Given the description of an element on the screen output the (x, y) to click on. 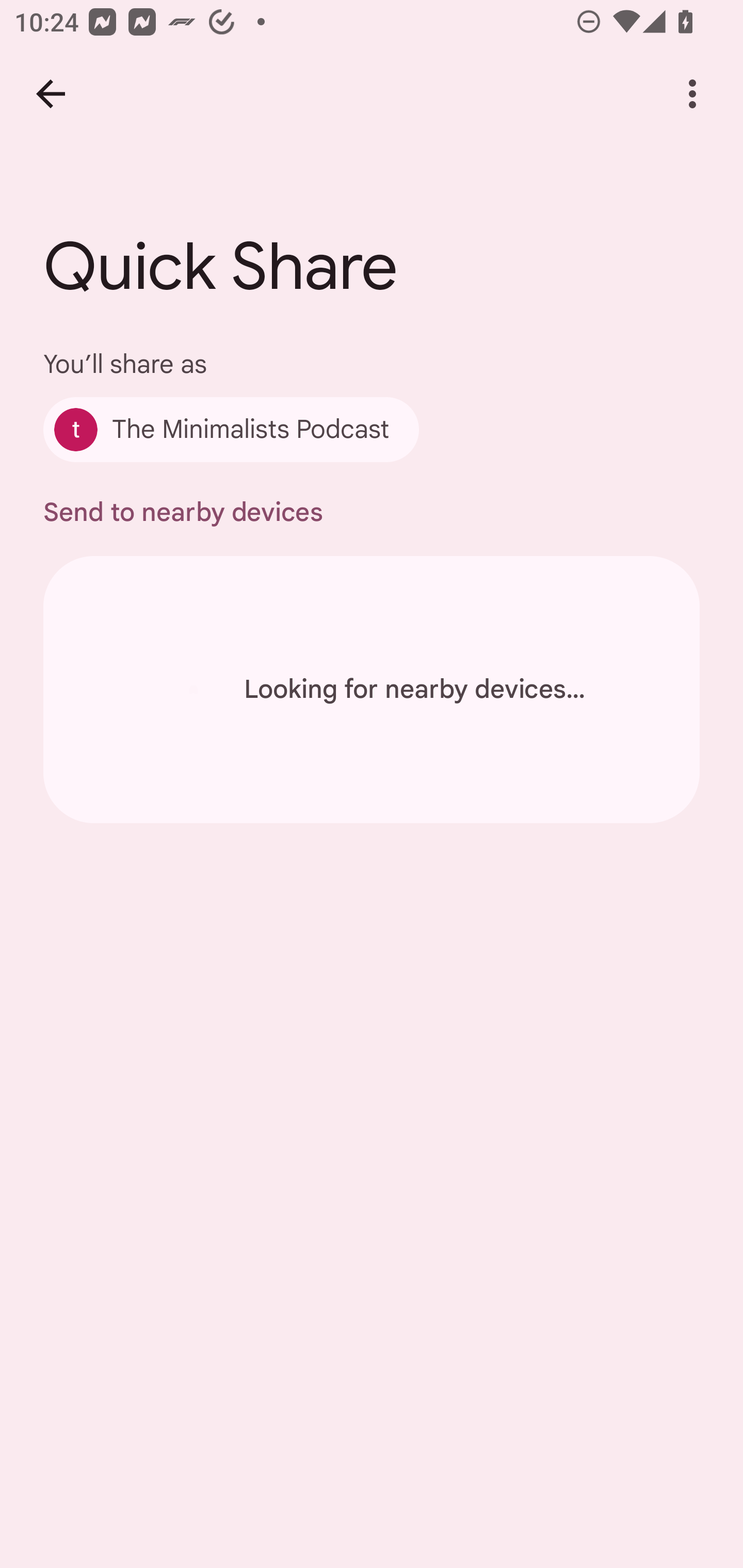
Back (50, 93)
More (692, 93)
The Minimalists Podcast (231, 429)
